Given the description of an element on the screen output the (x, y) to click on. 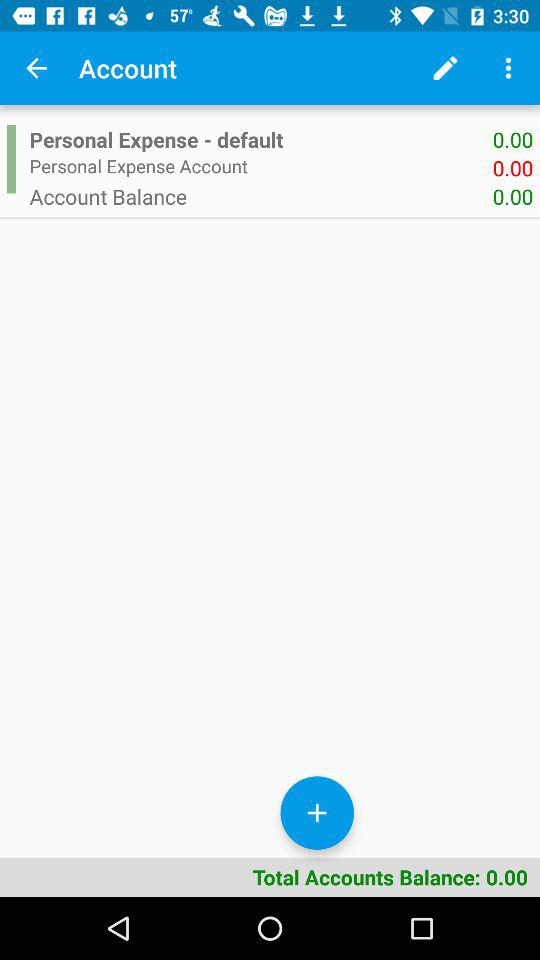
tap icon above 0.00 (508, 67)
